Given the description of an element on the screen output the (x, y) to click on. 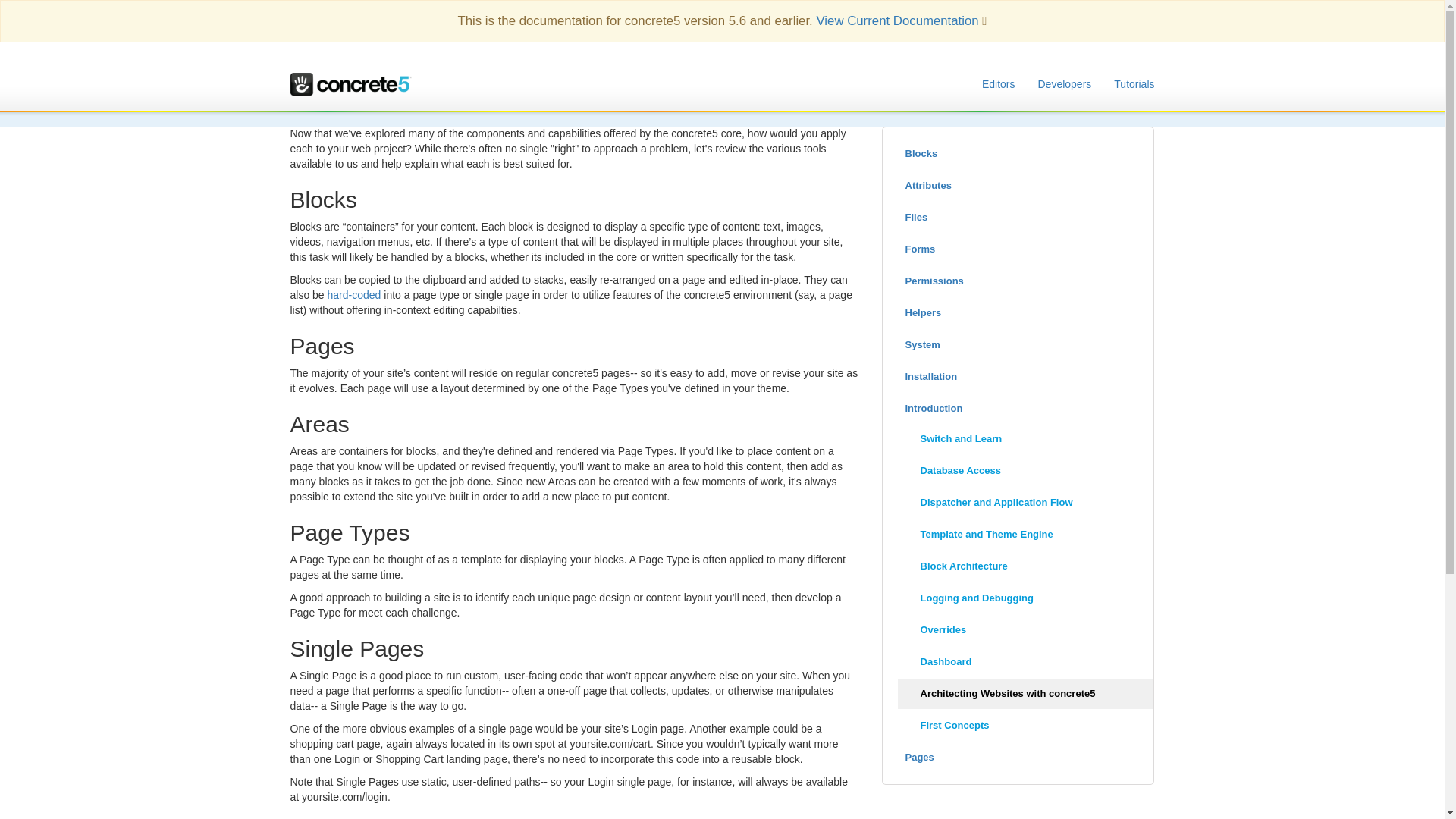
Helpers (1018, 313)
Database Access (1026, 470)
First Concepts (1026, 725)
Logging and Debugging (1026, 598)
Installation (1018, 376)
Dispatcher and Application Flow (1026, 502)
hard-coded (354, 295)
Blocks (1018, 153)
Tutorials (1134, 84)
Architecting Websites with concrete5 (1026, 693)
Introduction (1018, 408)
Dashboard (1026, 662)
View Current Documentation (896, 20)
System (1018, 345)
Switch and Learn (1026, 439)
